Given the description of an element on the screen output the (x, y) to click on. 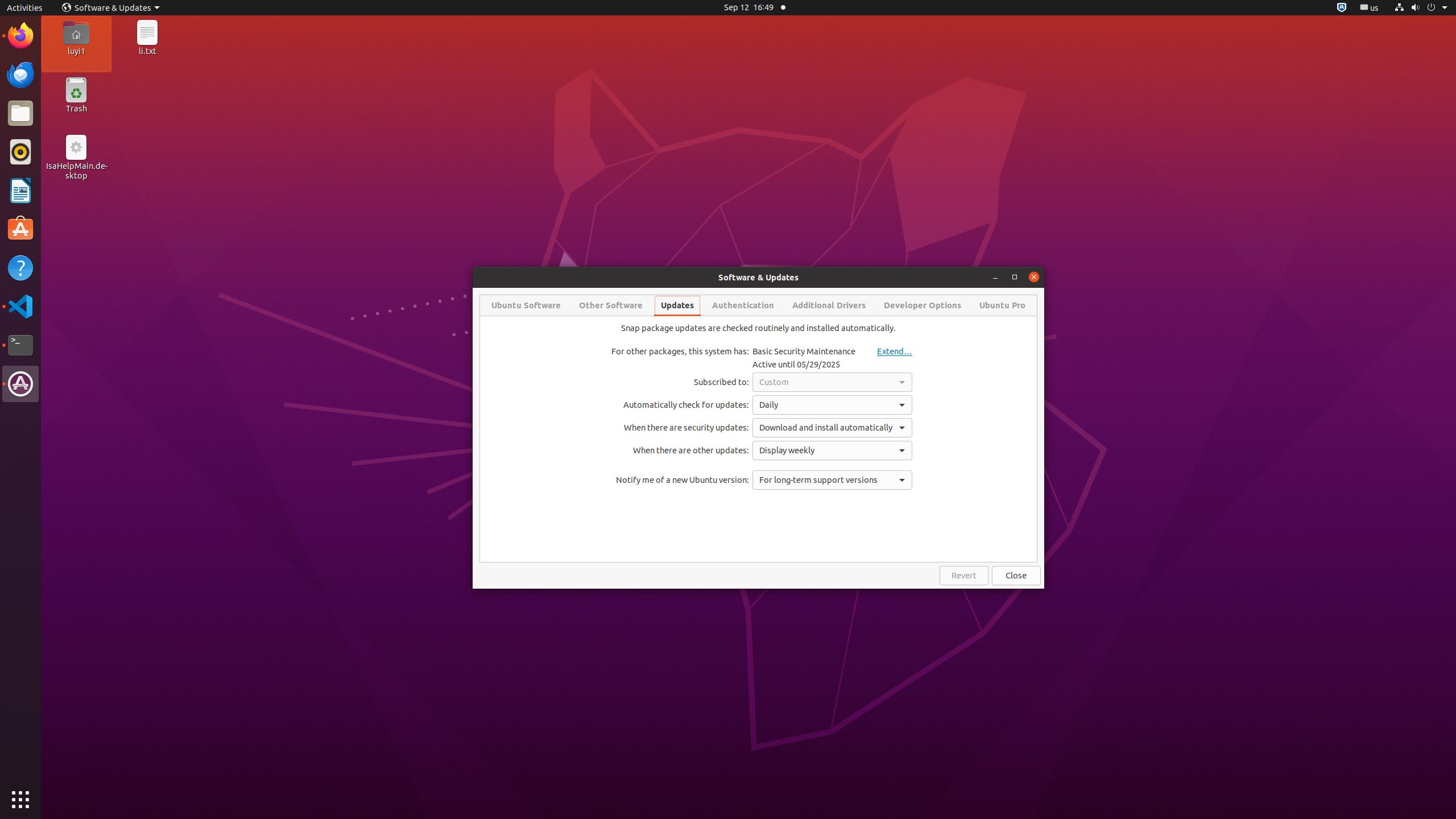
Updates Element type: page-tab (676, 304)
Developer Options Element type: page-tab (922, 304)
Daily Element type: combo-box (832, 404)
Extend… Element type: label (885, 351)
